Given the description of an element on the screen output the (x, y) to click on. 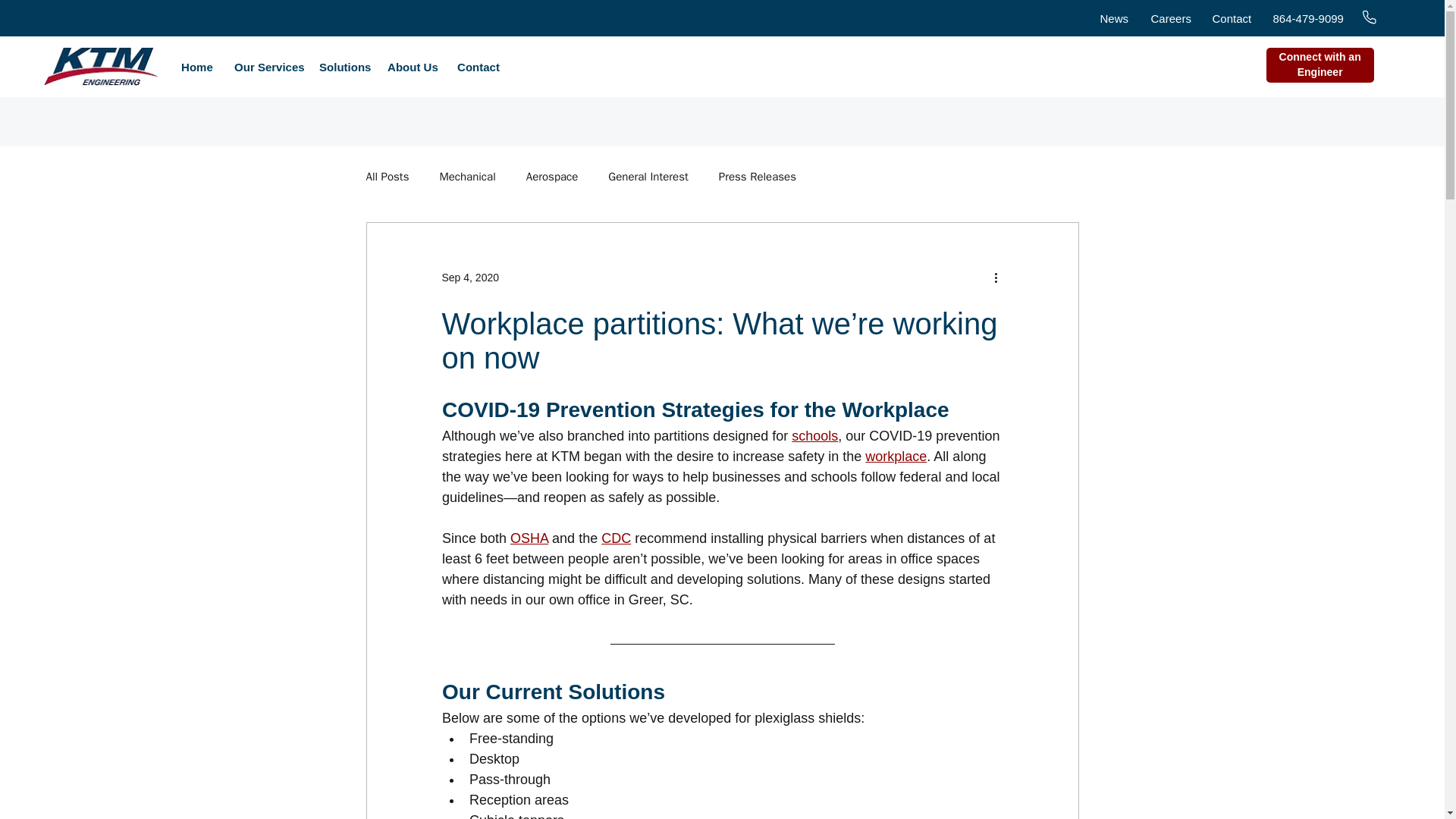
Sep 4, 2020 (470, 277)
About Us (410, 66)
workplace (895, 456)
Press Releases (757, 176)
Contact (475, 66)
Connect with an Engineer (1320, 64)
Solutions (341, 66)
Contact (1231, 18)
Mechanical (467, 176)
Careers (1170, 18)
All Posts (387, 176)
CDC (615, 538)
OSHA (529, 538)
Home (196, 66)
Aerospace (551, 176)
